Given the description of an element on the screen output the (x, y) to click on. 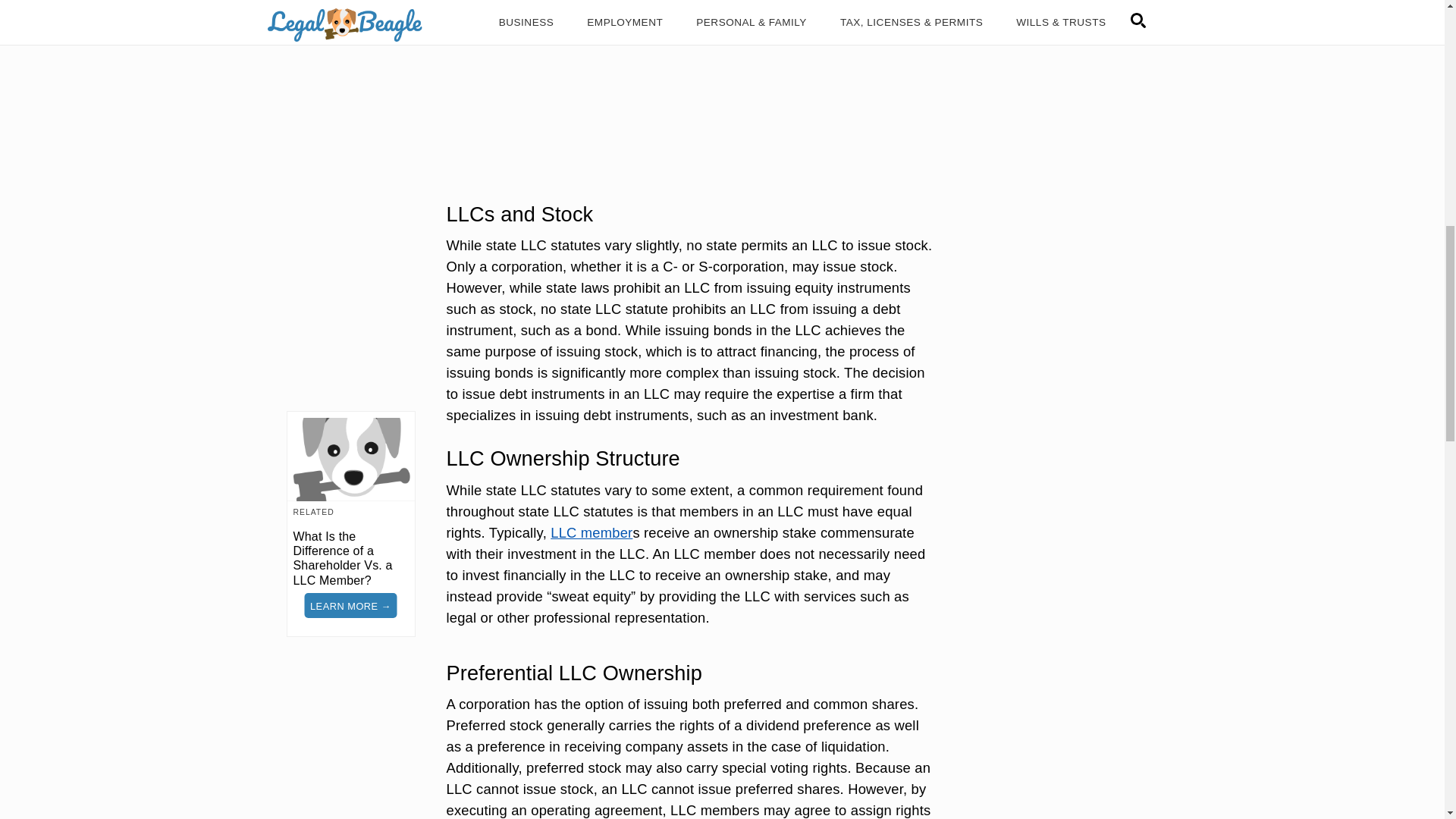
Advertisement (691, 84)
